Given the description of an element on the screen output the (x, y) to click on. 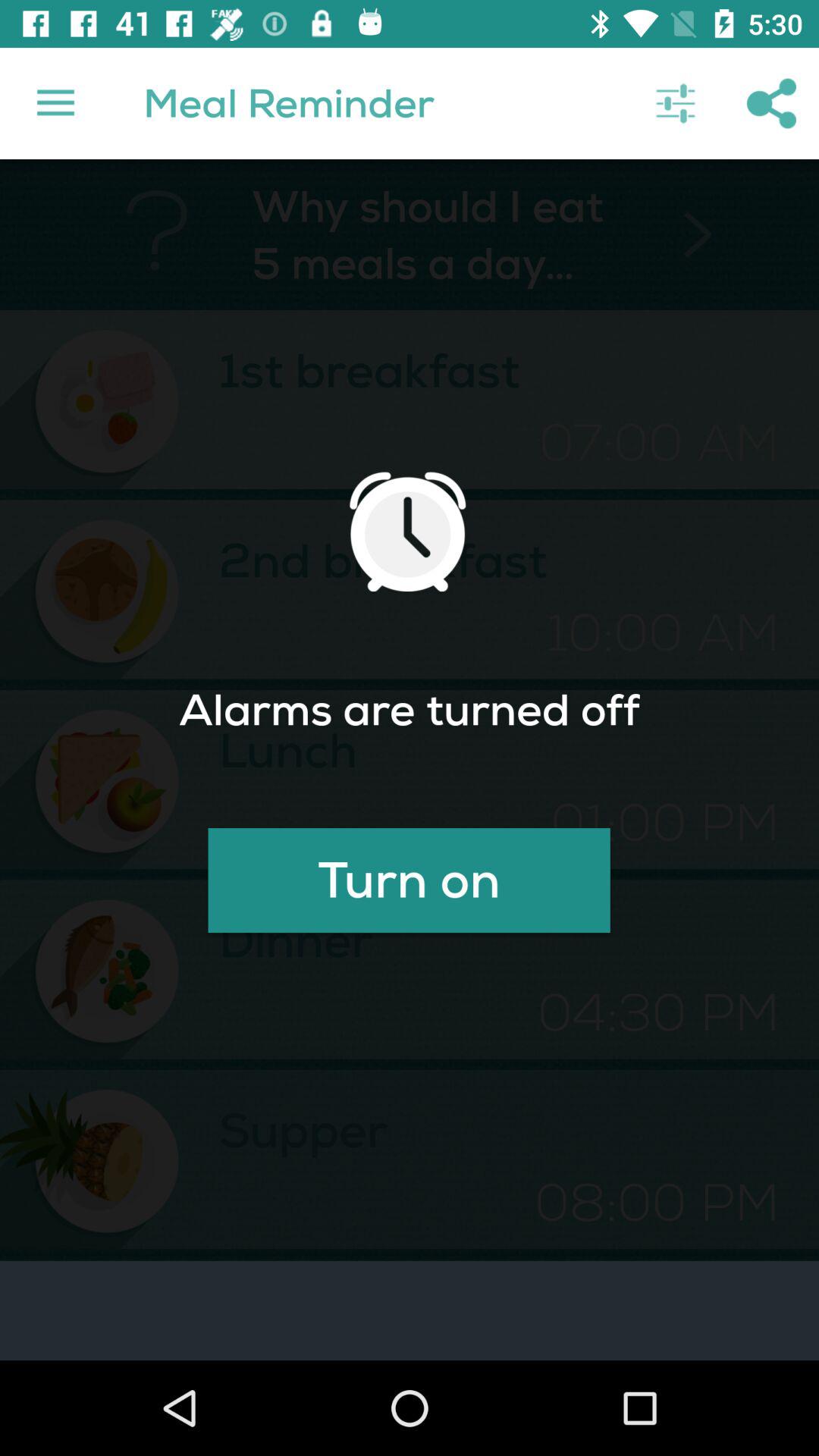
turn on the icon next to ? item (55, 103)
